Given the description of an element on the screen output the (x, y) to click on. 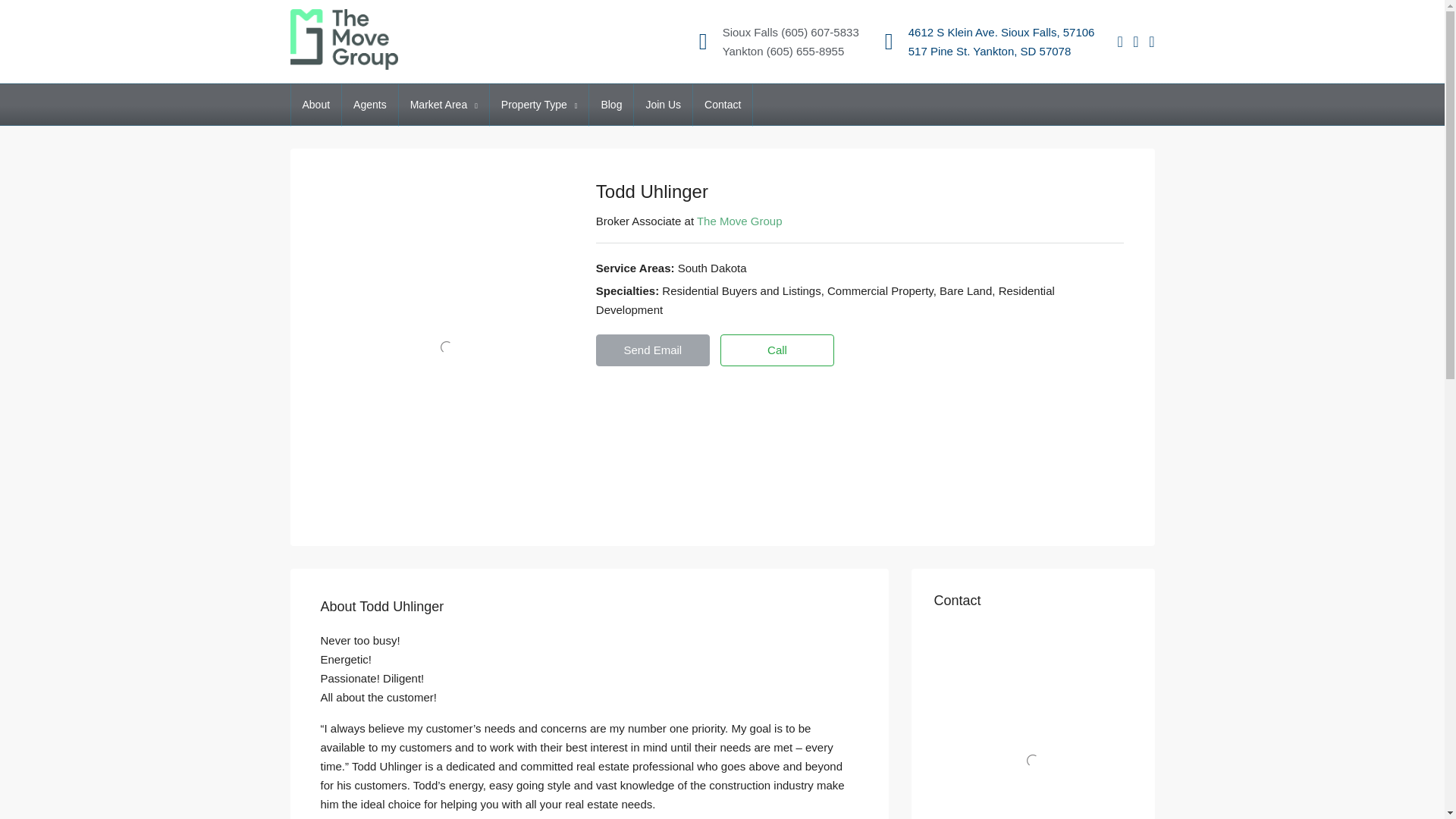
Market Area (443, 105)
Join Us (663, 104)
Contact (722, 104)
About (316, 104)
Agents (369, 104)
Blog (611, 104)
Property Type (539, 105)
